Given the description of an element on the screen output the (x, y) to click on. 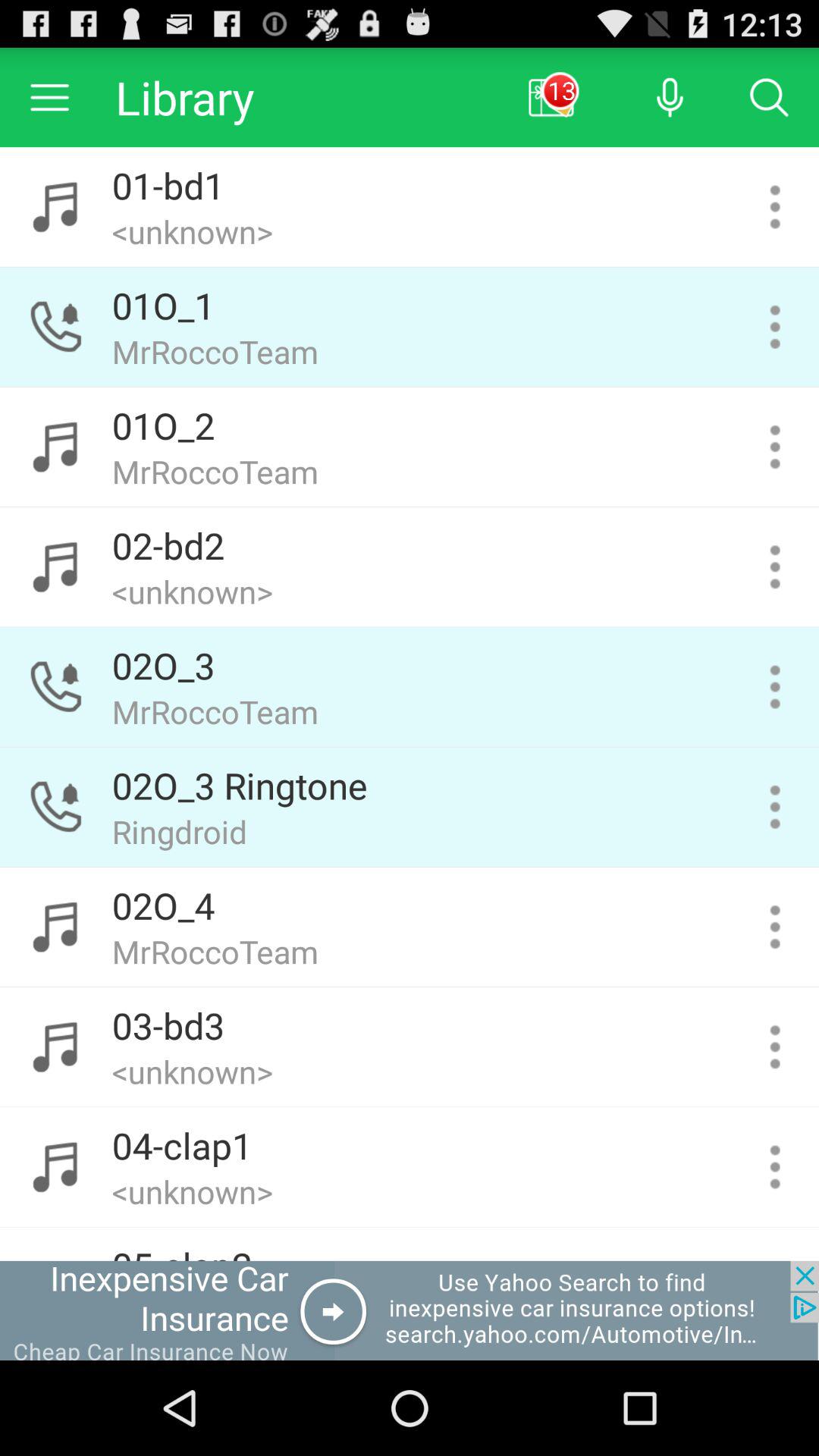
select menu (775, 806)
